Given the description of an element on the screen output the (x, y) to click on. 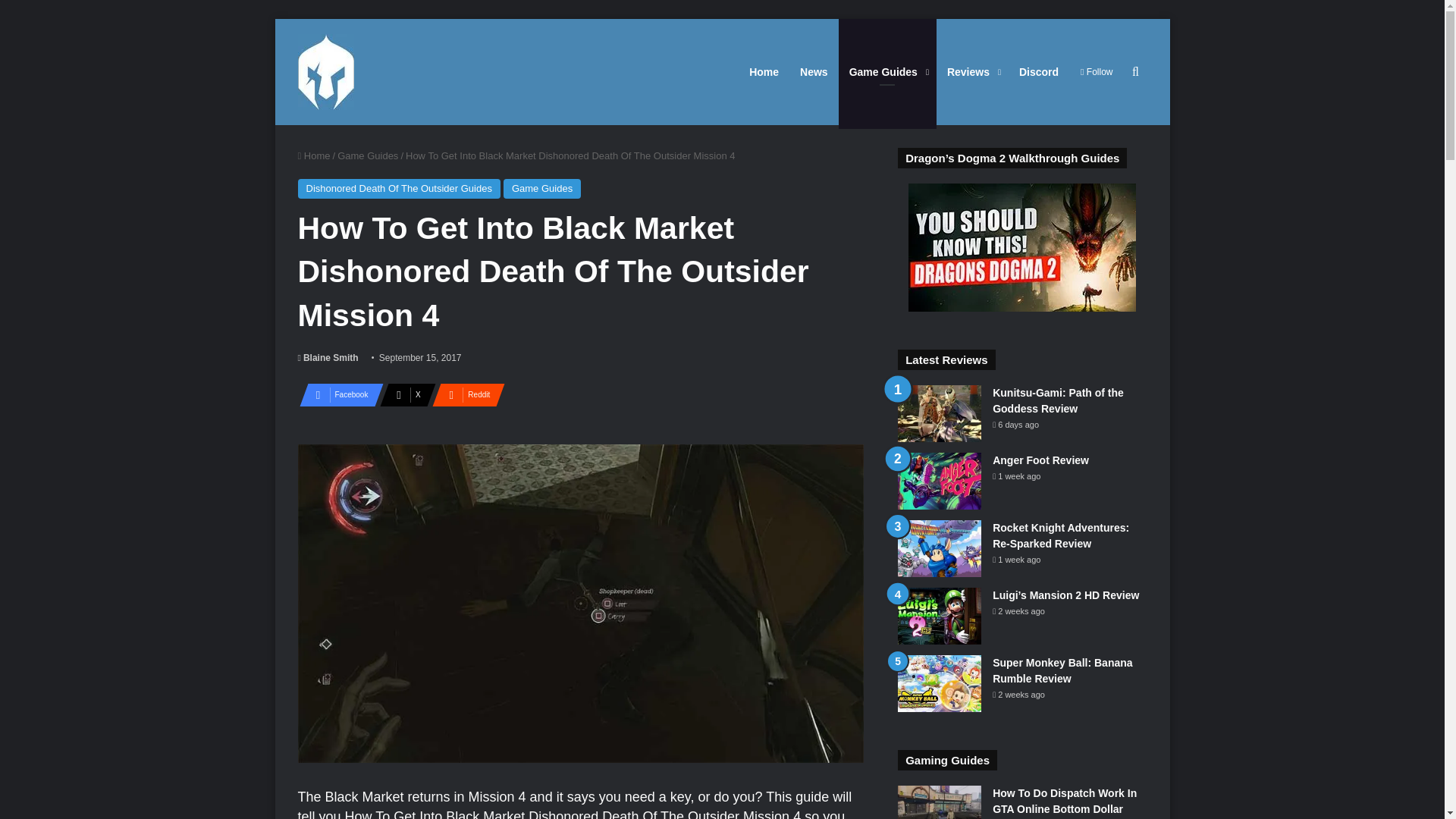
Game Guides (887, 71)
Blaine Smith (327, 357)
X (403, 395)
Dishonored Death Of The Outsider Guides (398, 189)
Reddit (464, 395)
Game Guides (887, 71)
Facebook (336, 395)
Facebook (336, 395)
Game Guides (541, 189)
Reddit (464, 395)
Blaine Smith (327, 357)
X (403, 395)
Home (313, 155)
Game Guides (367, 155)
